Given the description of an element on the screen output the (x, y) to click on. 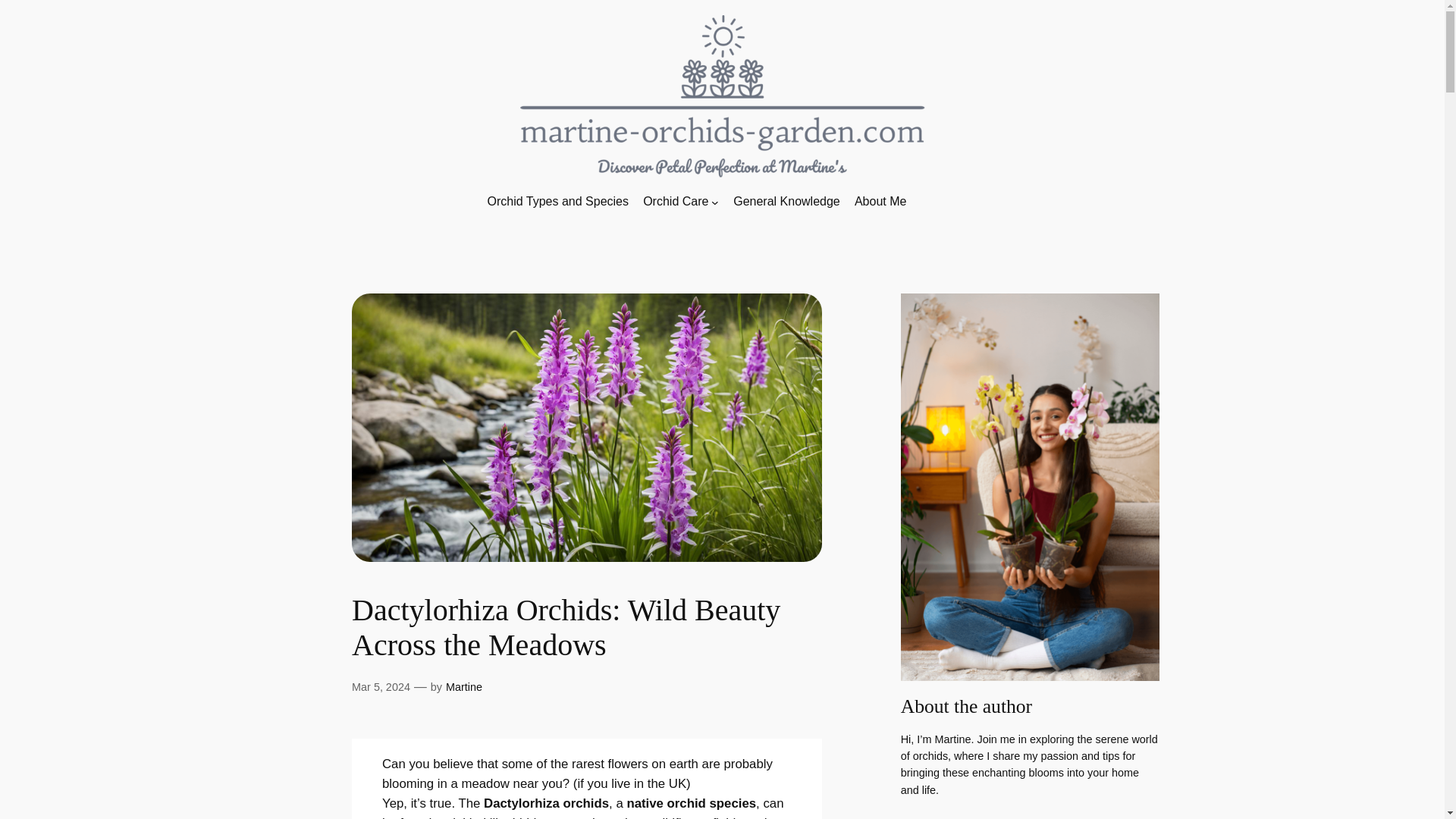
Orchid Types and Species (556, 201)
About Me (879, 201)
Mar 5, 2024 (381, 686)
General Knowledge (786, 201)
Martine (463, 686)
Orchid Care (675, 201)
